Given the description of an element on the screen output the (x, y) to click on. 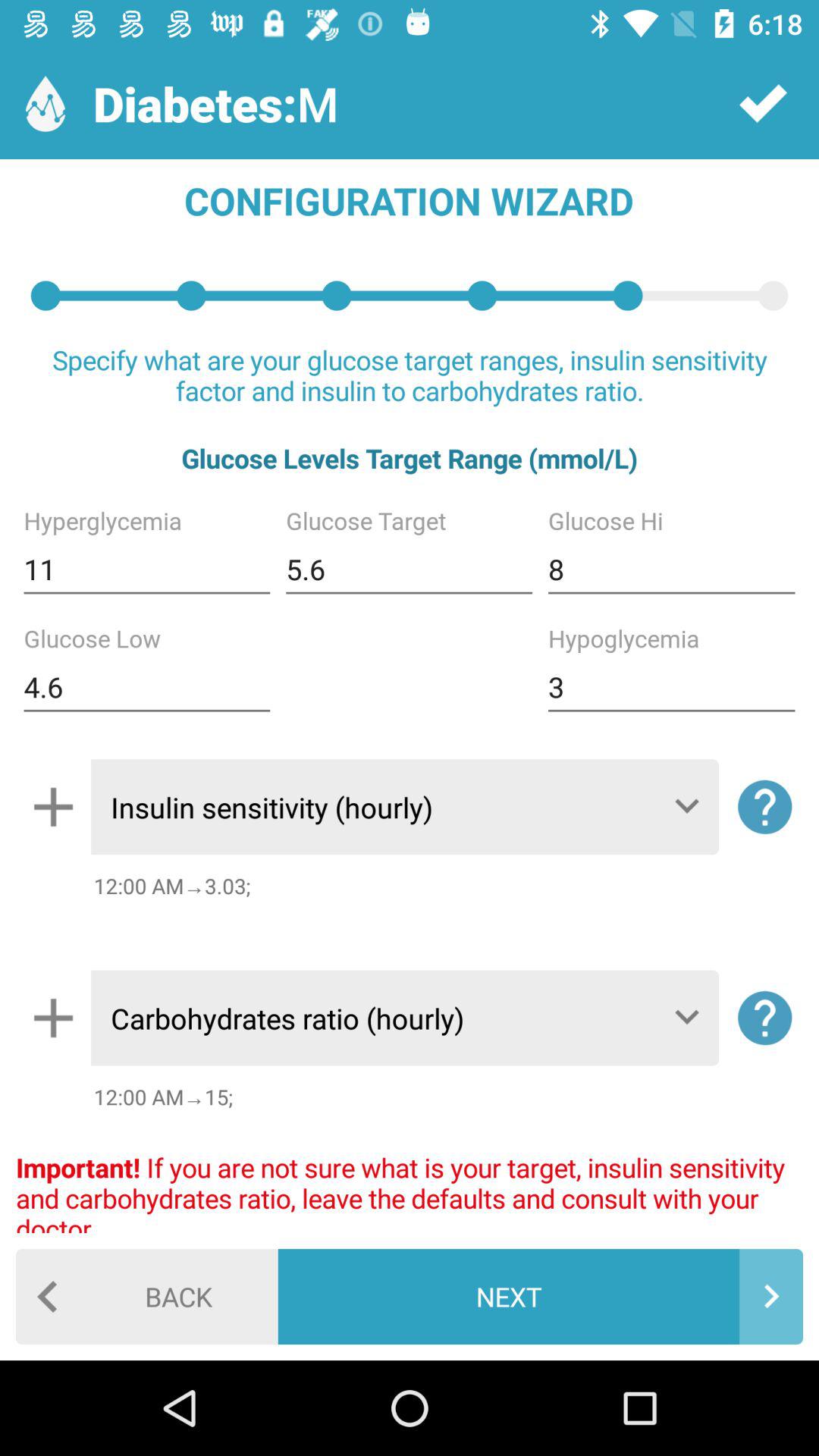
swipe to the back item (146, 1296)
